Given the description of an element on the screen output the (x, y) to click on. 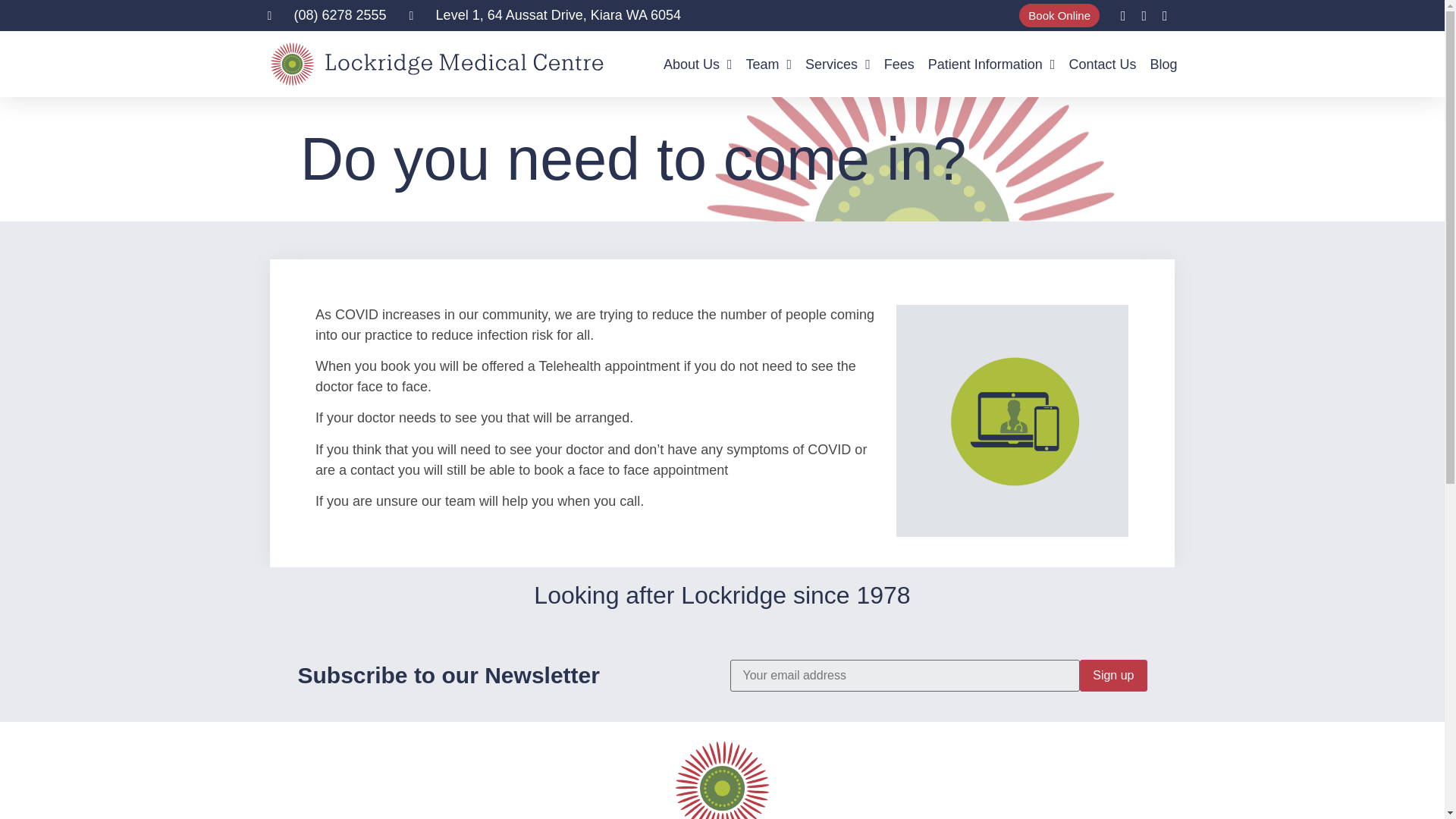
Patient Information (991, 63)
Team (768, 63)
About Us (697, 63)
Services (837, 63)
Book Online (1059, 15)
Level 1, 64 Aussat Drive, Kiara WA 6054 (545, 14)
Sign up (1113, 675)
